Given the description of an element on the screen output the (x, y) to click on. 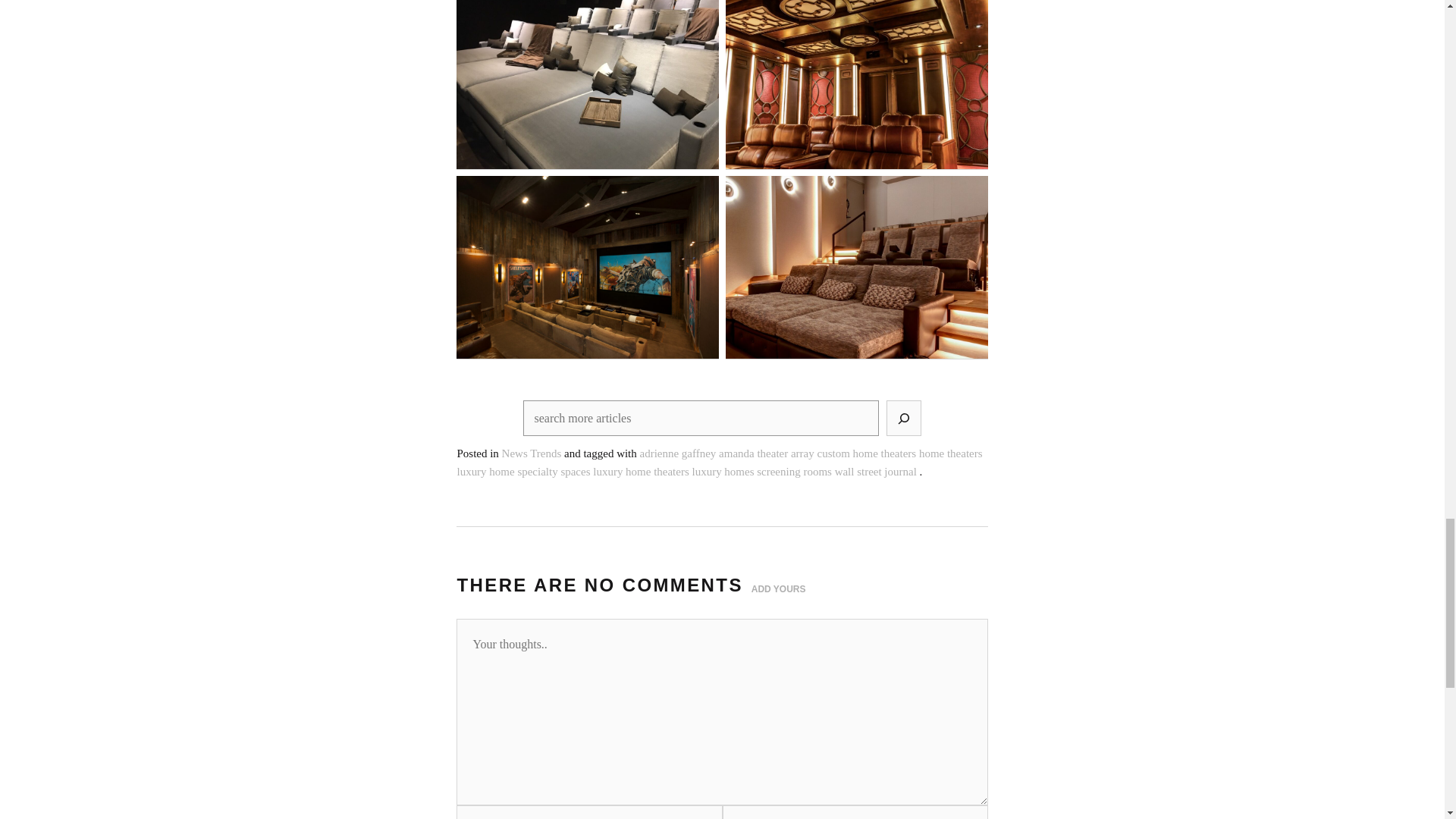
luxury home specialty spaces (523, 471)
amanda theater (753, 453)
View all posts tagged custom home theaters (866, 453)
View all posts tagged luxury home theaters (640, 471)
View all posts in News (514, 453)
View all posts tagged wall street journal (875, 471)
array (801, 453)
screening rooms (794, 471)
home theaters (950, 453)
View all posts tagged screening rooms (794, 471)
View all posts tagged adrienne gaffney (678, 453)
View all posts tagged home theaters (950, 453)
View all posts tagged luxury home specialty spaces (523, 471)
View all posts in Trends (544, 453)
wall street journal (875, 471)
